Given the description of an element on the screen output the (x, y) to click on. 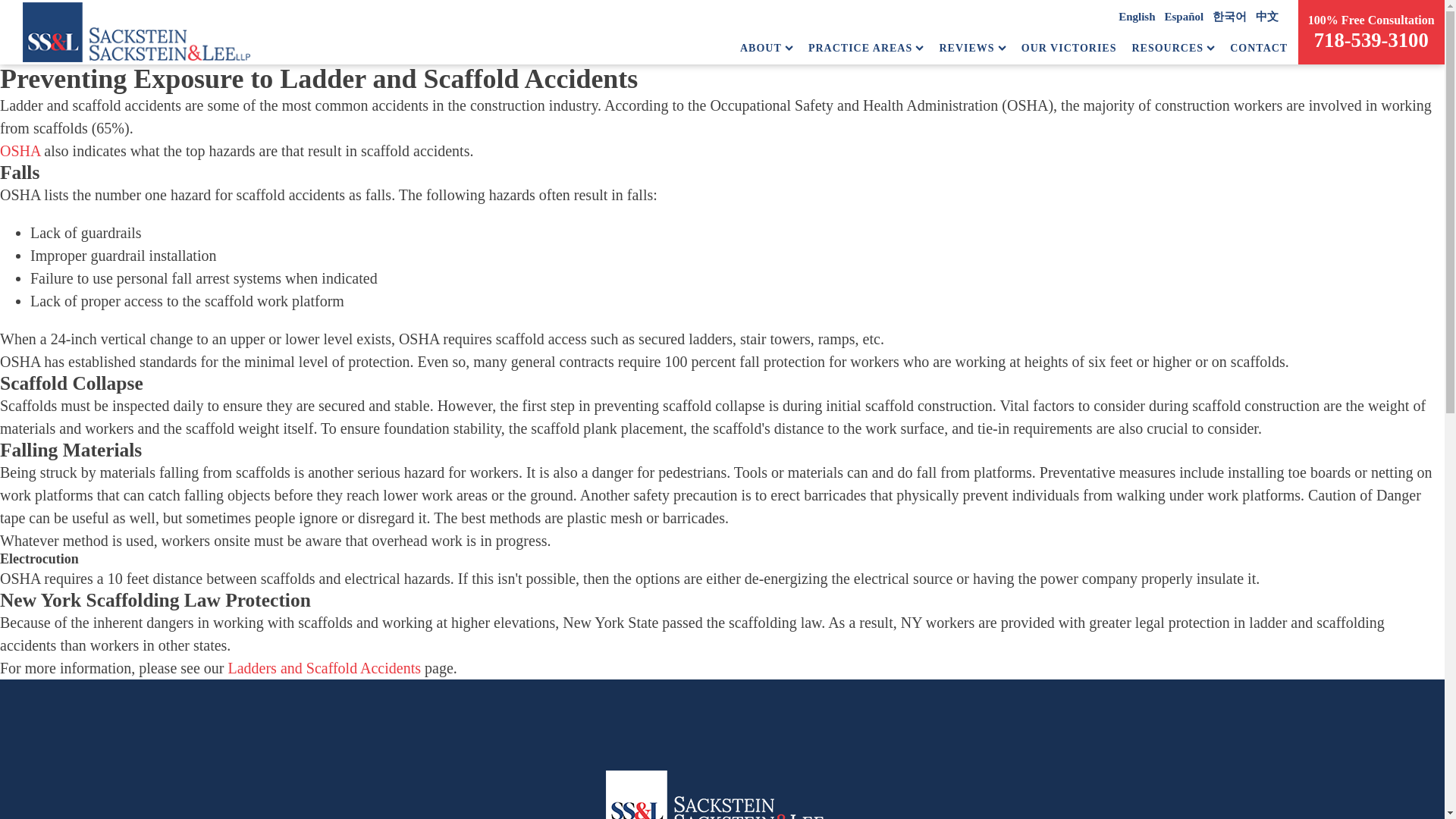
English (1136, 16)
ABOUT (766, 48)
CONTACT (1258, 48)
718-539-3100 (1371, 40)
RESOURCES (1172, 48)
REVIEWS (972, 48)
OUR VICTORIES (1069, 48)
PRACTICE AREAS (866, 48)
